Given the description of an element on the screen output the (x, y) to click on. 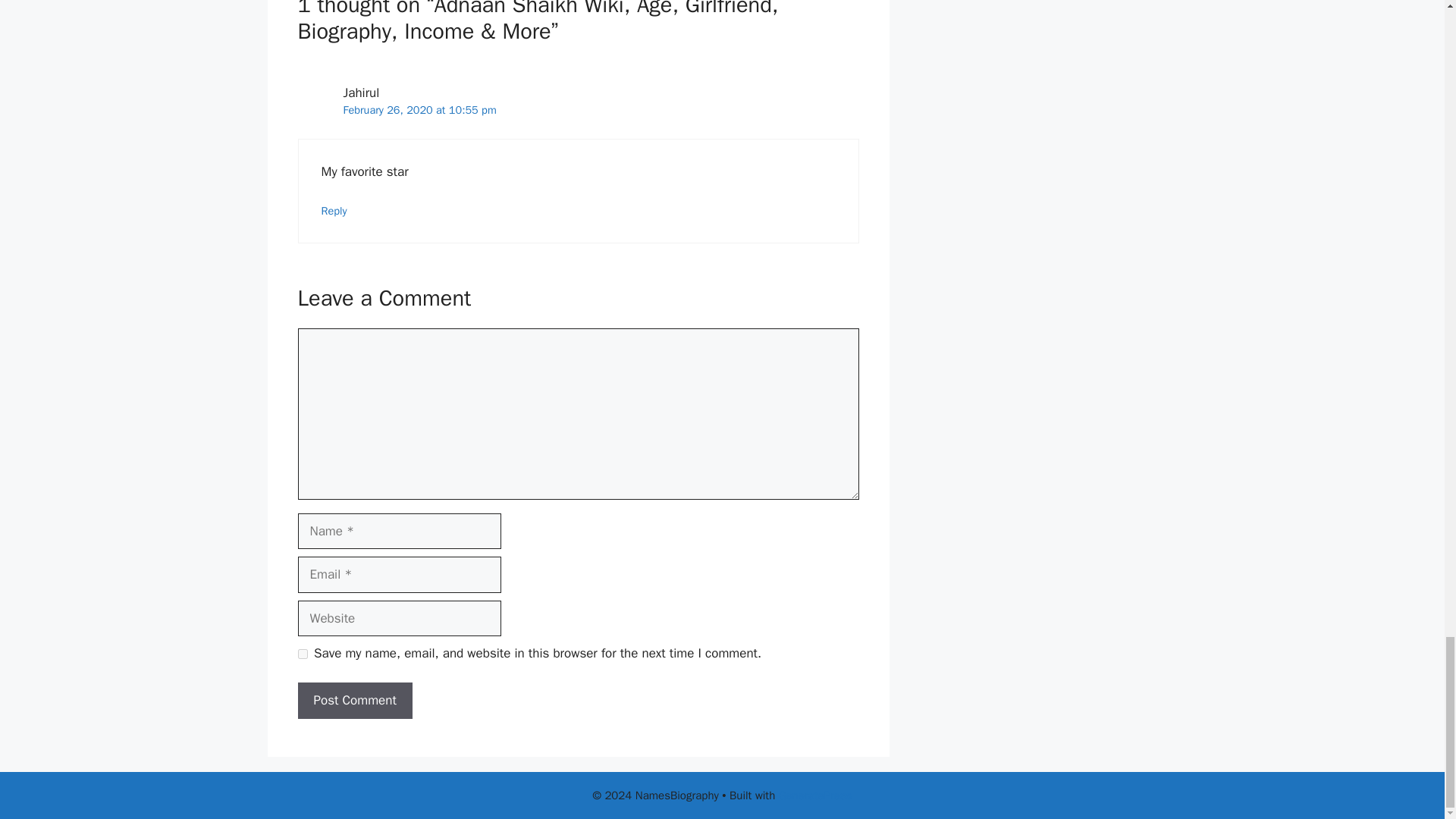
Post Comment (354, 700)
yes (302, 654)
Reply (334, 210)
Post Comment (354, 700)
GeneratePress (814, 795)
February 26, 2020 at 10:55 pm (419, 110)
